Given the description of an element on the screen output the (x, y) to click on. 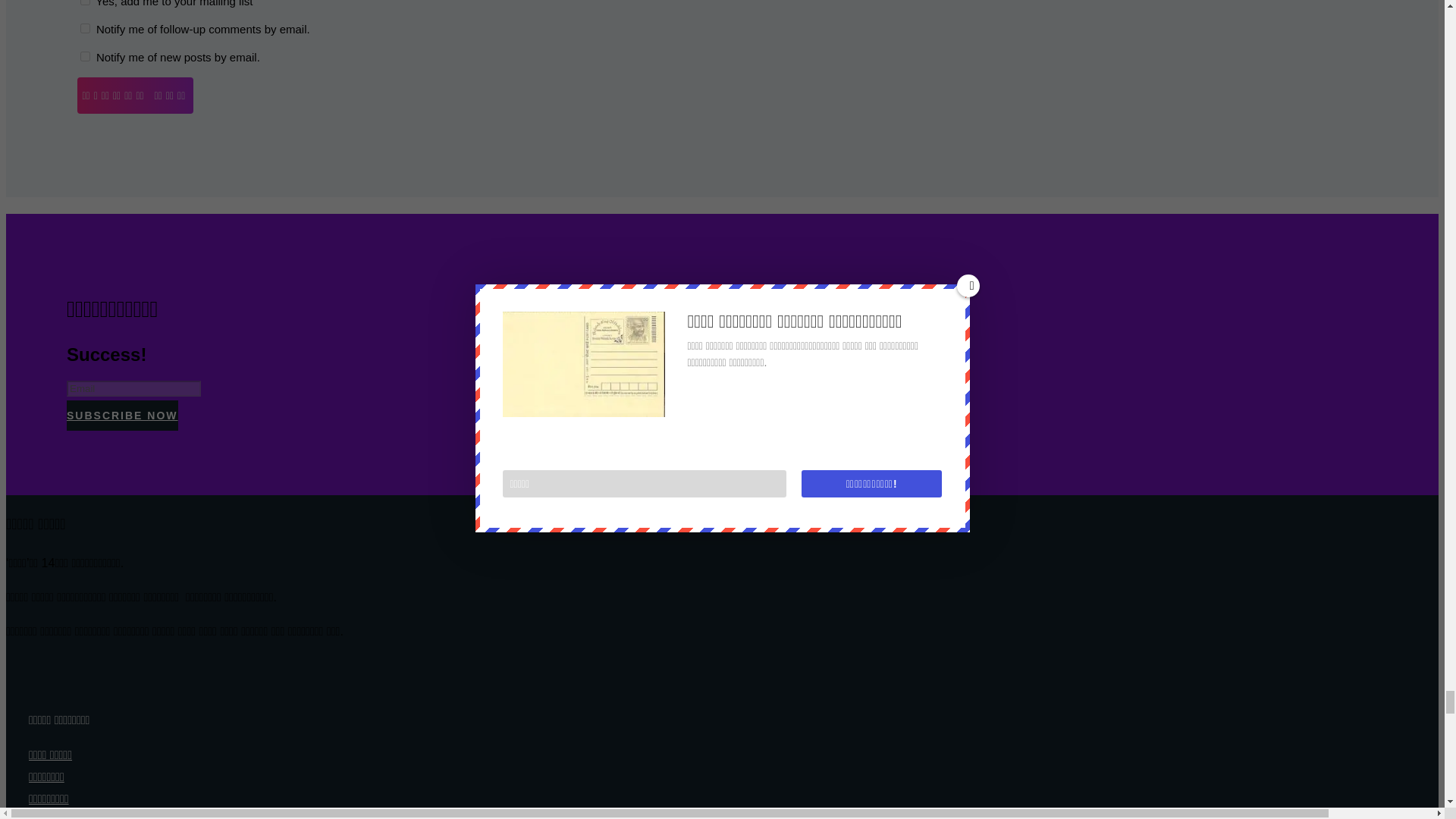
subscribe (85, 28)
1 (85, 2)
subscribe (85, 56)
